Given the description of an element on the screen output the (x, y) to click on. 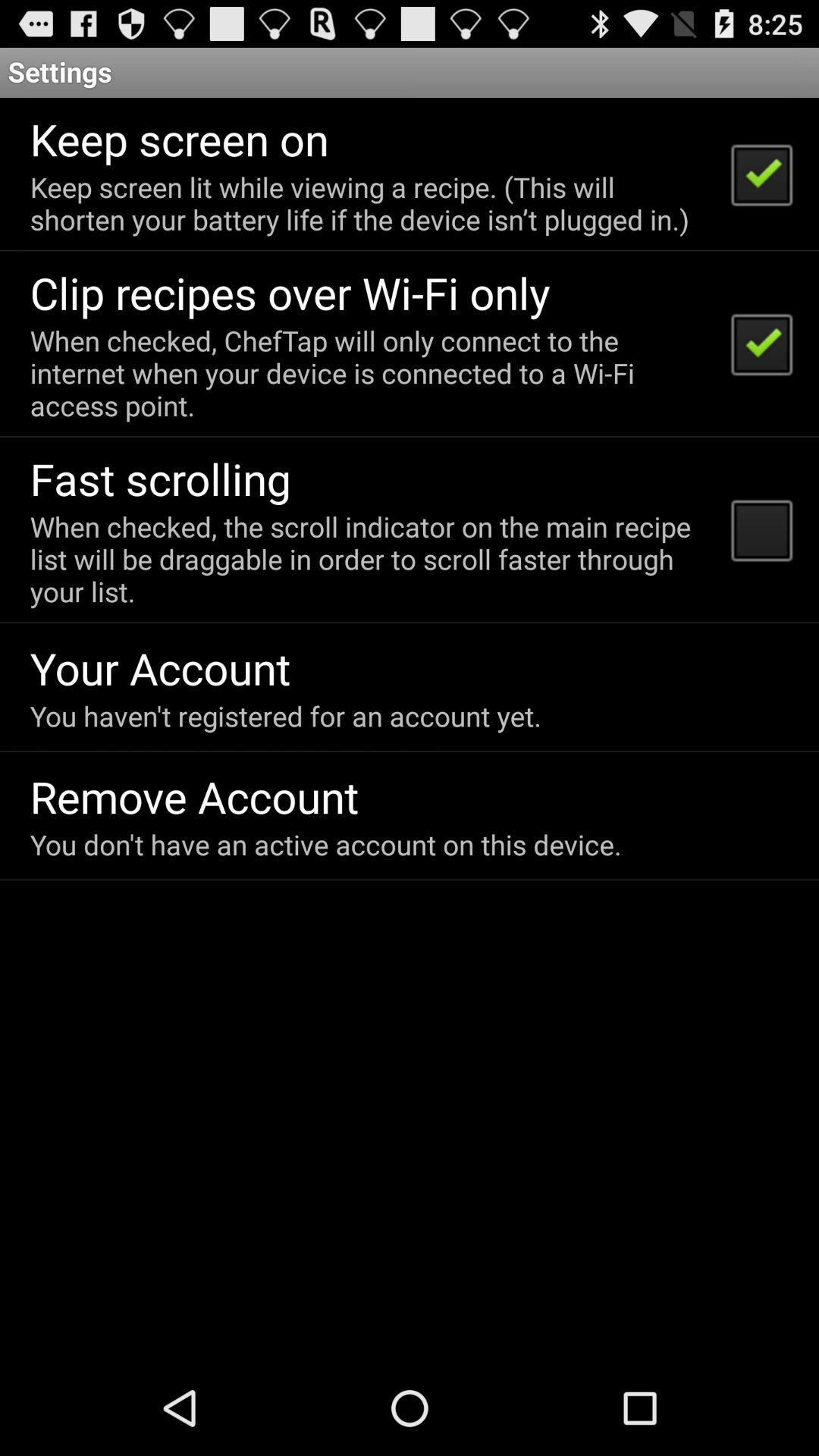
jump to the your account icon (160, 667)
